Given the description of an element on the screen output the (x, y) to click on. 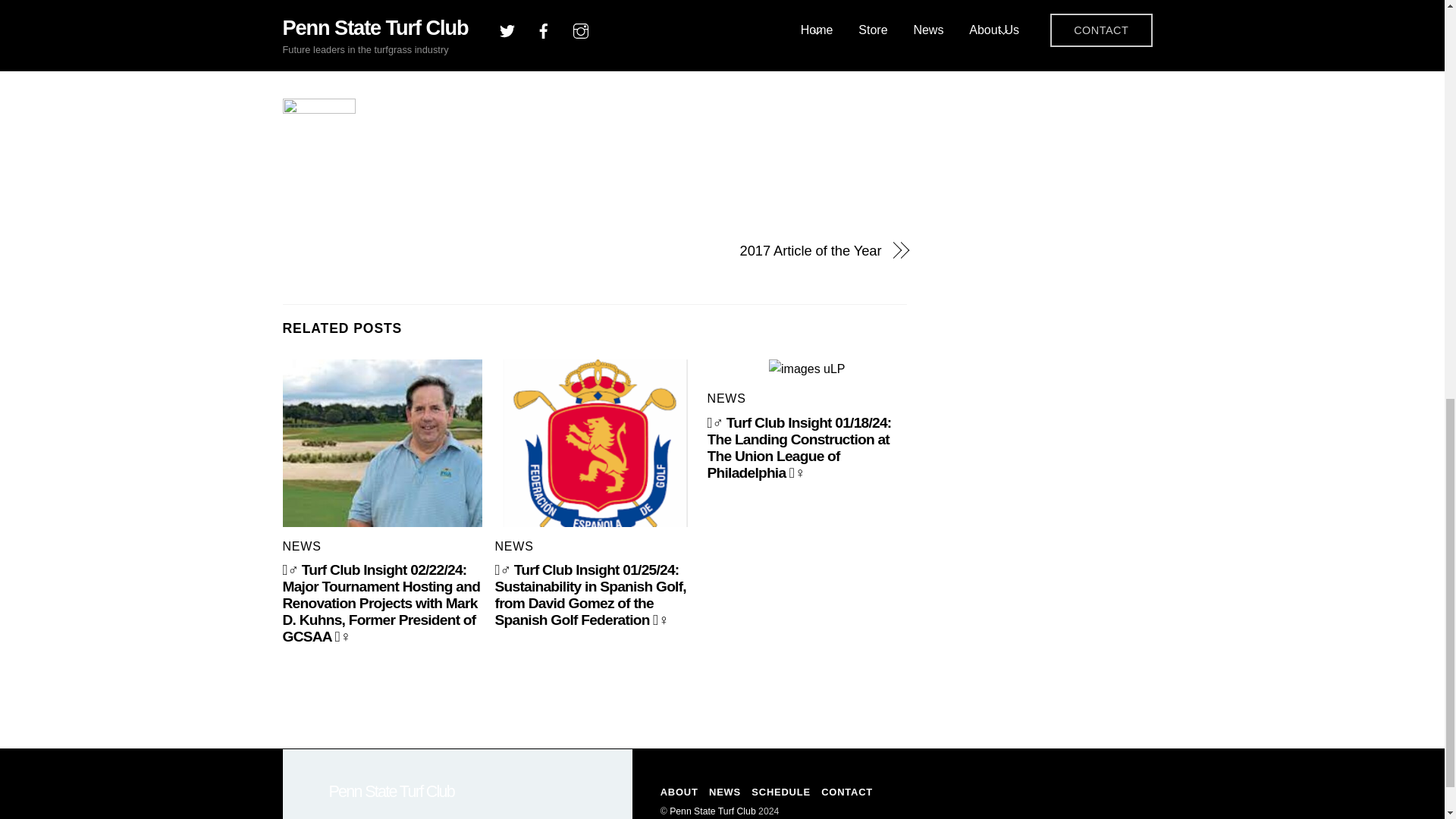
NEWS (514, 545)
Penn State Turf Club (391, 791)
images uLP (806, 369)
NEWS (301, 545)
NEWS (726, 398)
download (595, 443)
2017 Article of the Year (746, 250)
